Given the description of an element on the screen output the (x, y) to click on. 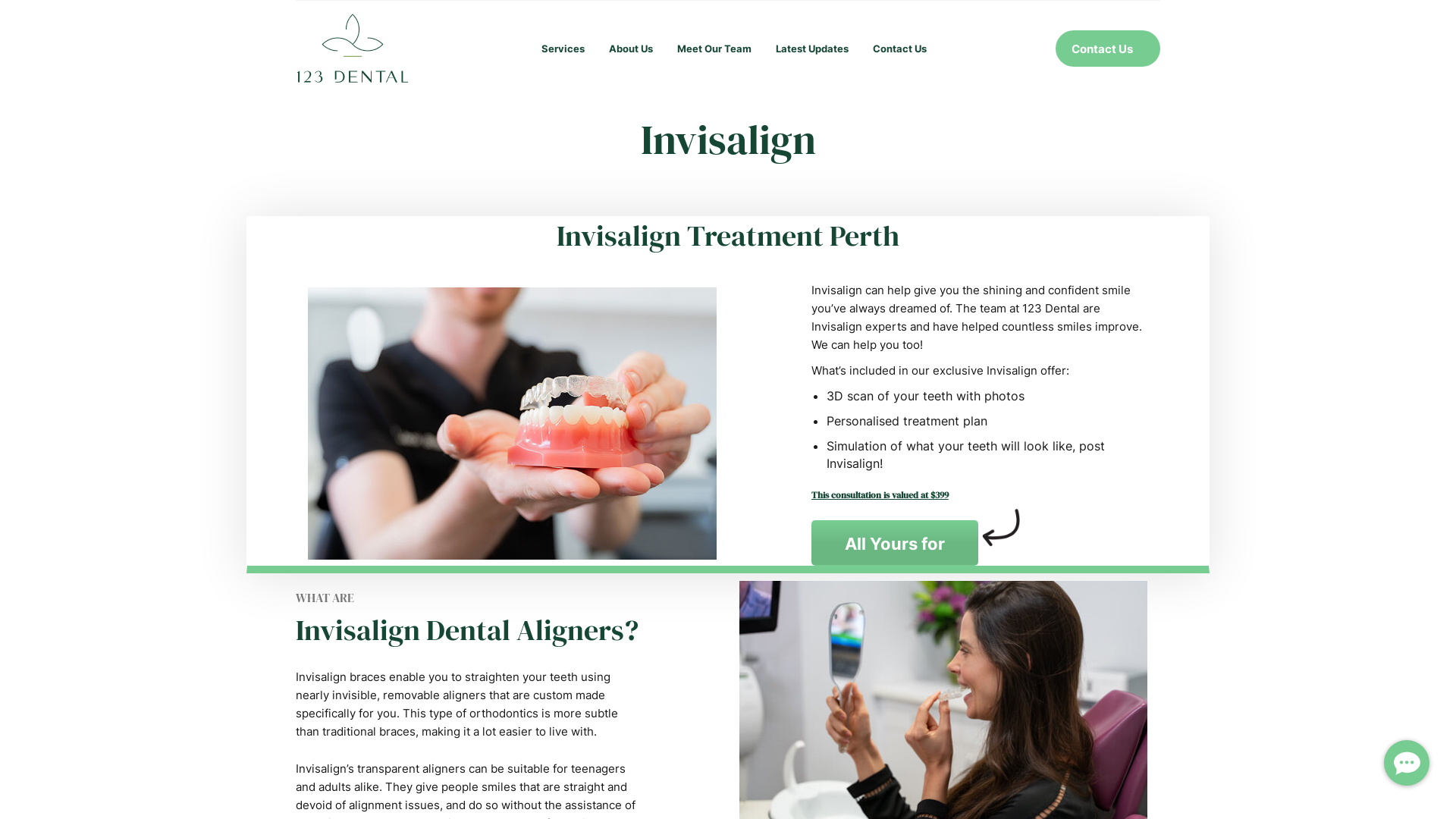
Services Element type: text (561, 48)
Meet Our Team Element type: text (713, 48)
invisalign perth - 123 dental Element type: hover (511, 423)
Contact Us Element type: text (1107, 48)
About Us Element type: text (630, 48)
Latest Updates Element type: text (811, 48)
Contact Us Element type: text (899, 48)
All Yours for Free! Element type: text (894, 542)
